Given the description of an element on the screen output the (x, y) to click on. 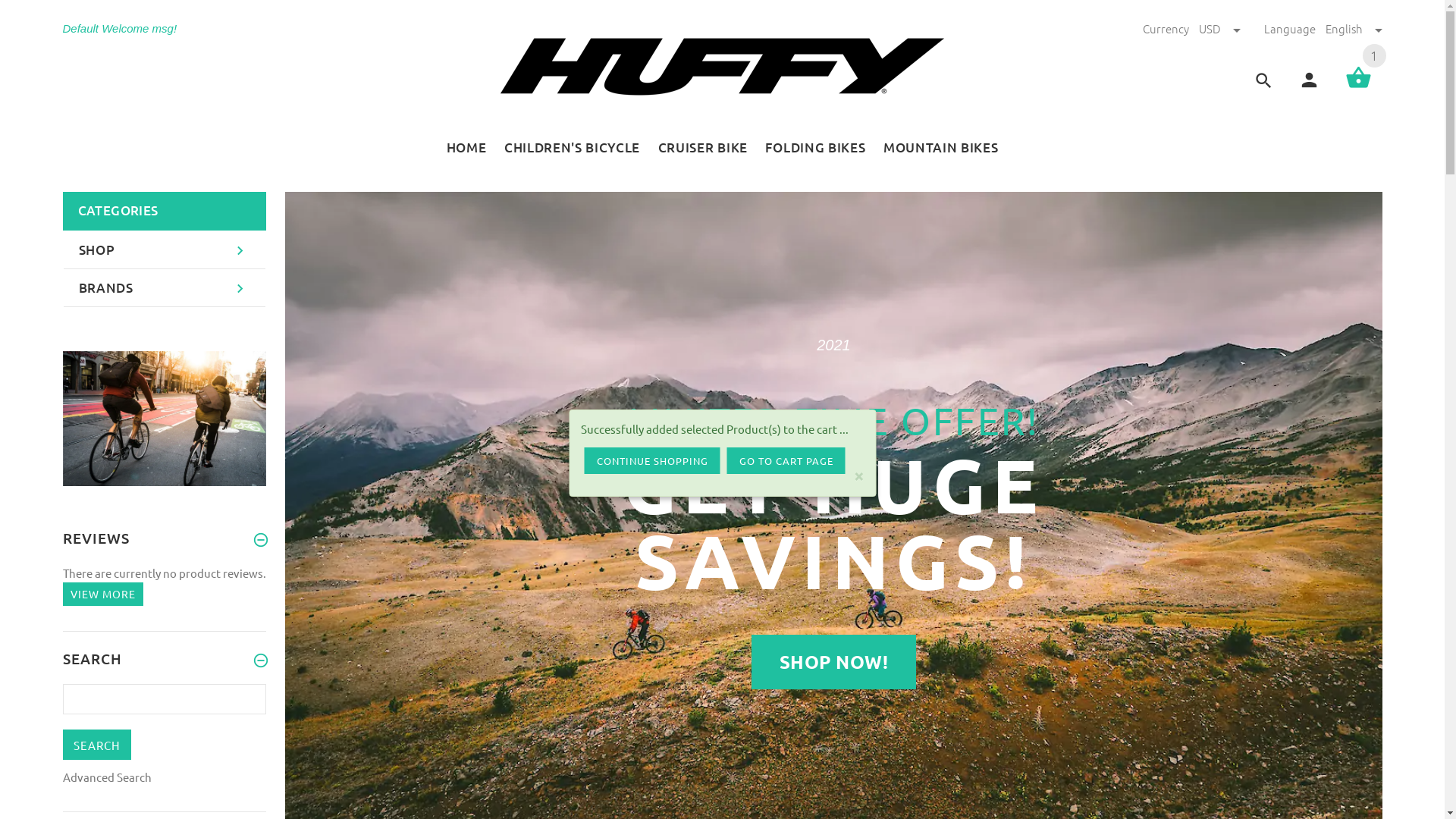
CONTINUE SHOPPING Element type: text (651, 460)
SHOP Element type: text (164, 250)
GO TO CART PAGE Element type: text (785, 460)
English Element type: text (1353, 28)
Search Element type: text (96, 744)
CRUISER BIKE Element type: text (702, 145)
HOME Element type: text (470, 145)
FOLDING BIKES Element type: text (815, 145)
SHOP NOW! Element type: text (833, 661)
1 Element type: text (1358, 86)
Advanced Search Element type: text (106, 776)
CHILDREN'S BICYCLE Element type: text (572, 145)
USD Element type: text (1220, 28)
MOUNTAIN BIKES Element type: text (935, 145)
VIEW MORE Element type: text (102, 593)
BRANDS Element type: text (164, 288)
